Given the description of an element on the screen output the (x, y) to click on. 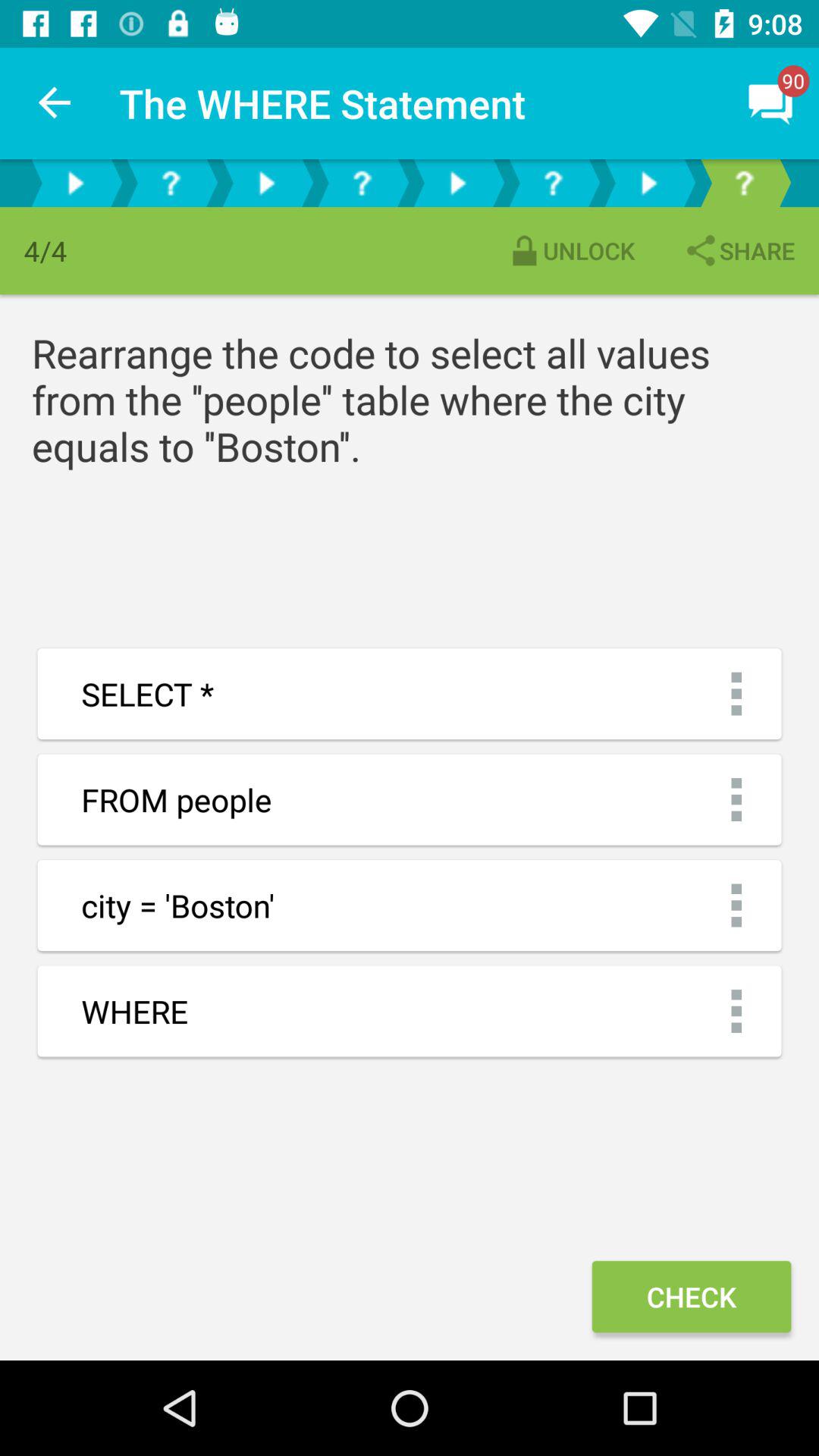
open check (691, 1296)
